Given the description of an element on the screen output the (x, y) to click on. 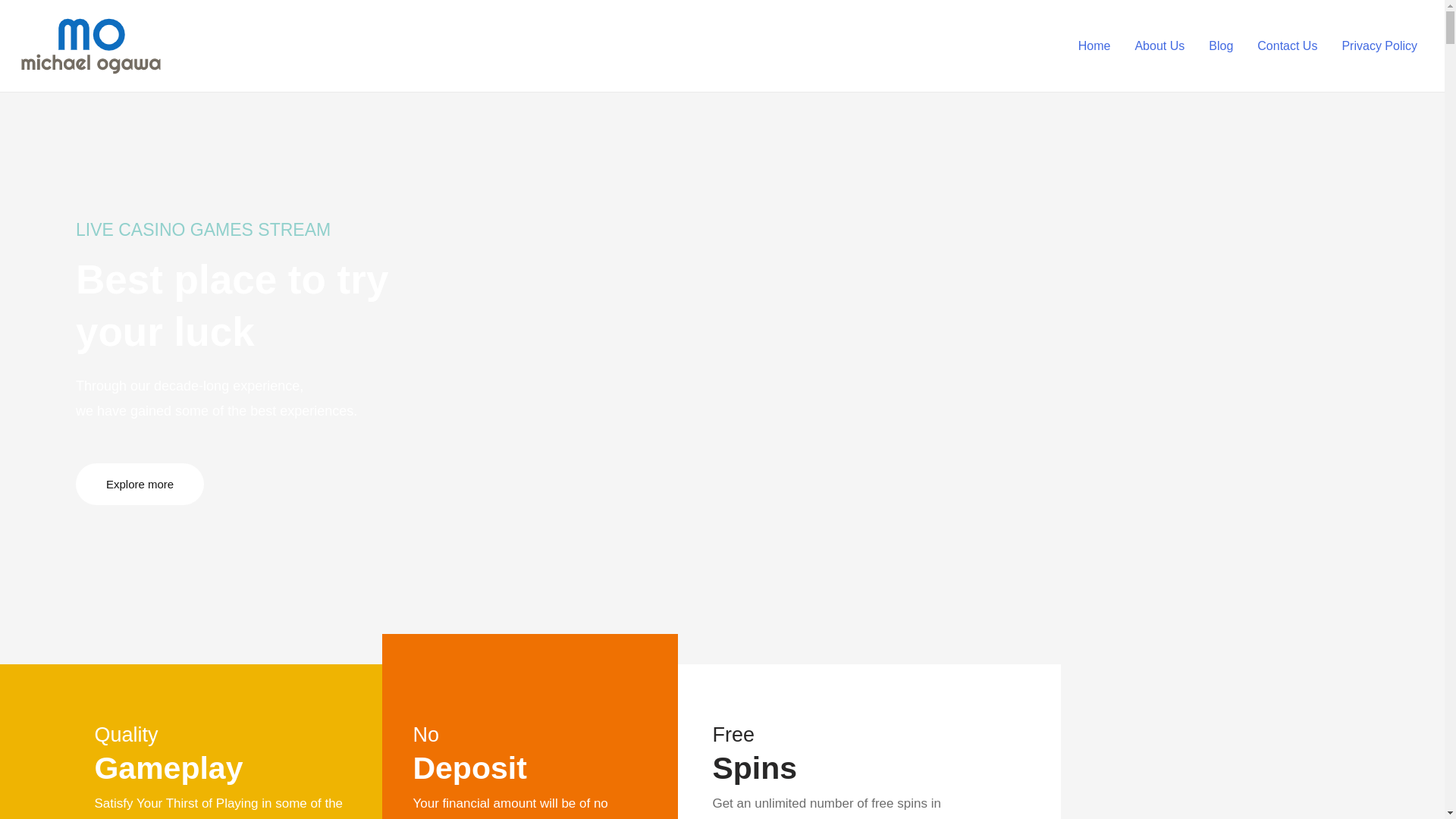
Blog (1220, 45)
Explore more (139, 484)
Privacy Policy (1379, 45)
About Us (1159, 45)
Home (1093, 45)
Contact Us (1286, 45)
